Given the description of an element on the screen output the (x, y) to click on. 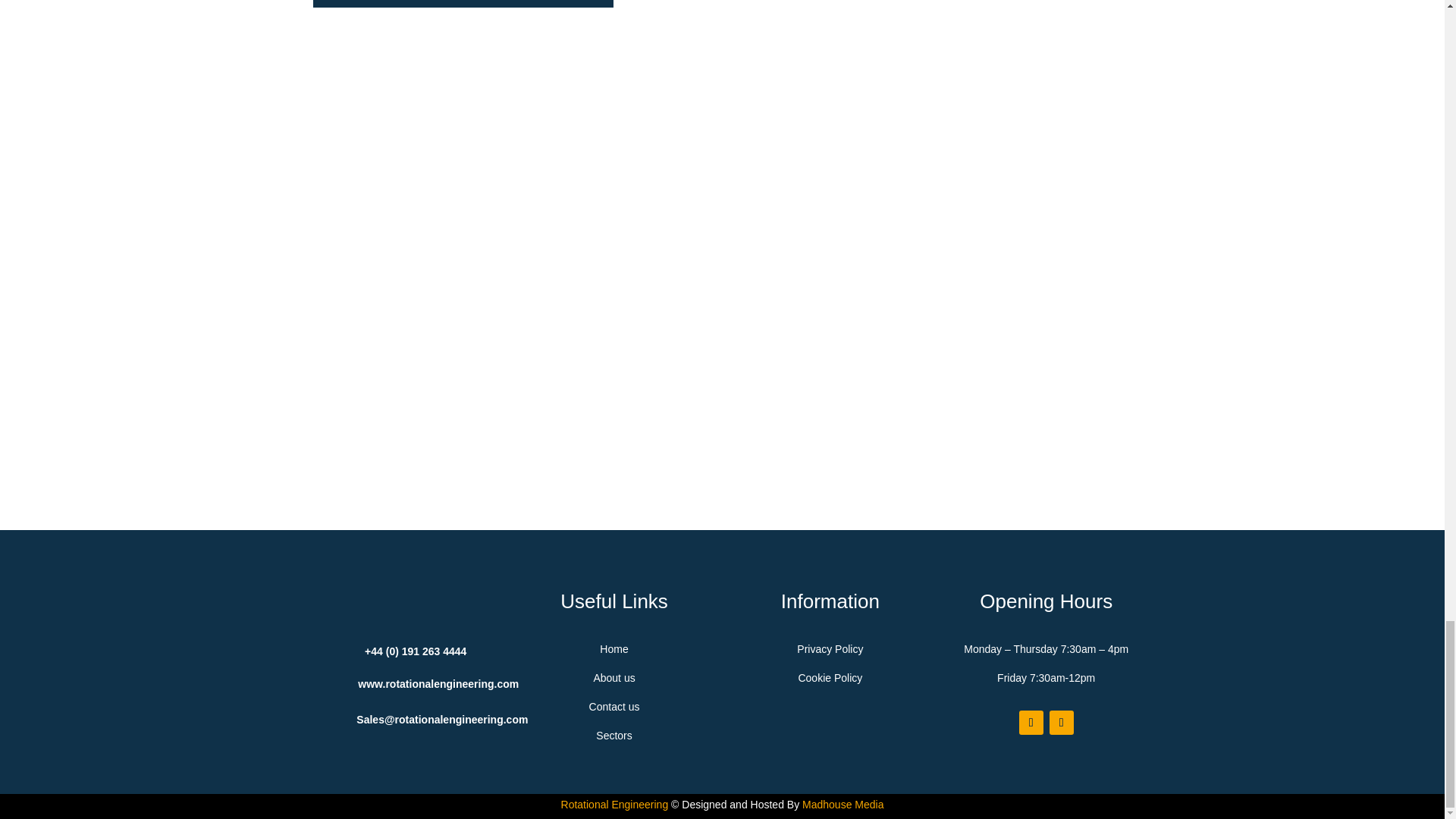
About us (613, 677)
Madhouse Media (842, 804)
Home (613, 648)
Sectors (613, 735)
Contact us (614, 706)
Cookie Policy (829, 677)
Rotational Engineering (614, 804)
Privacy Policy (829, 648)
